Given the description of an element on the screen output the (x, y) to click on. 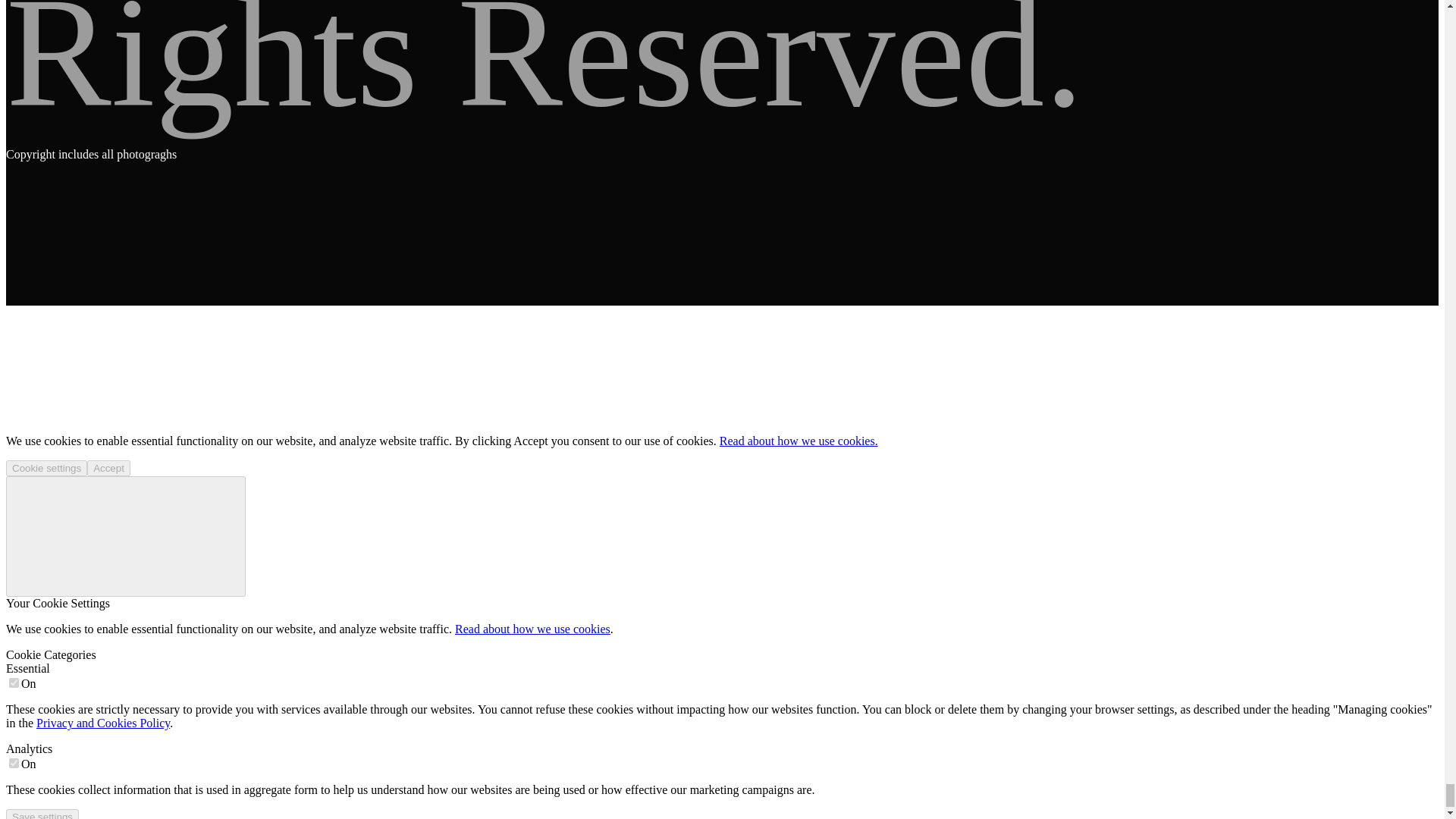
Privacy and Cookies Policy (103, 722)
on (13, 763)
on (13, 682)
Read about how we use cookies. (798, 440)
Accept (109, 467)
Cookie settings (46, 467)
Read about how we use cookies (532, 628)
